Given the description of an element on the screen output the (x, y) to click on. 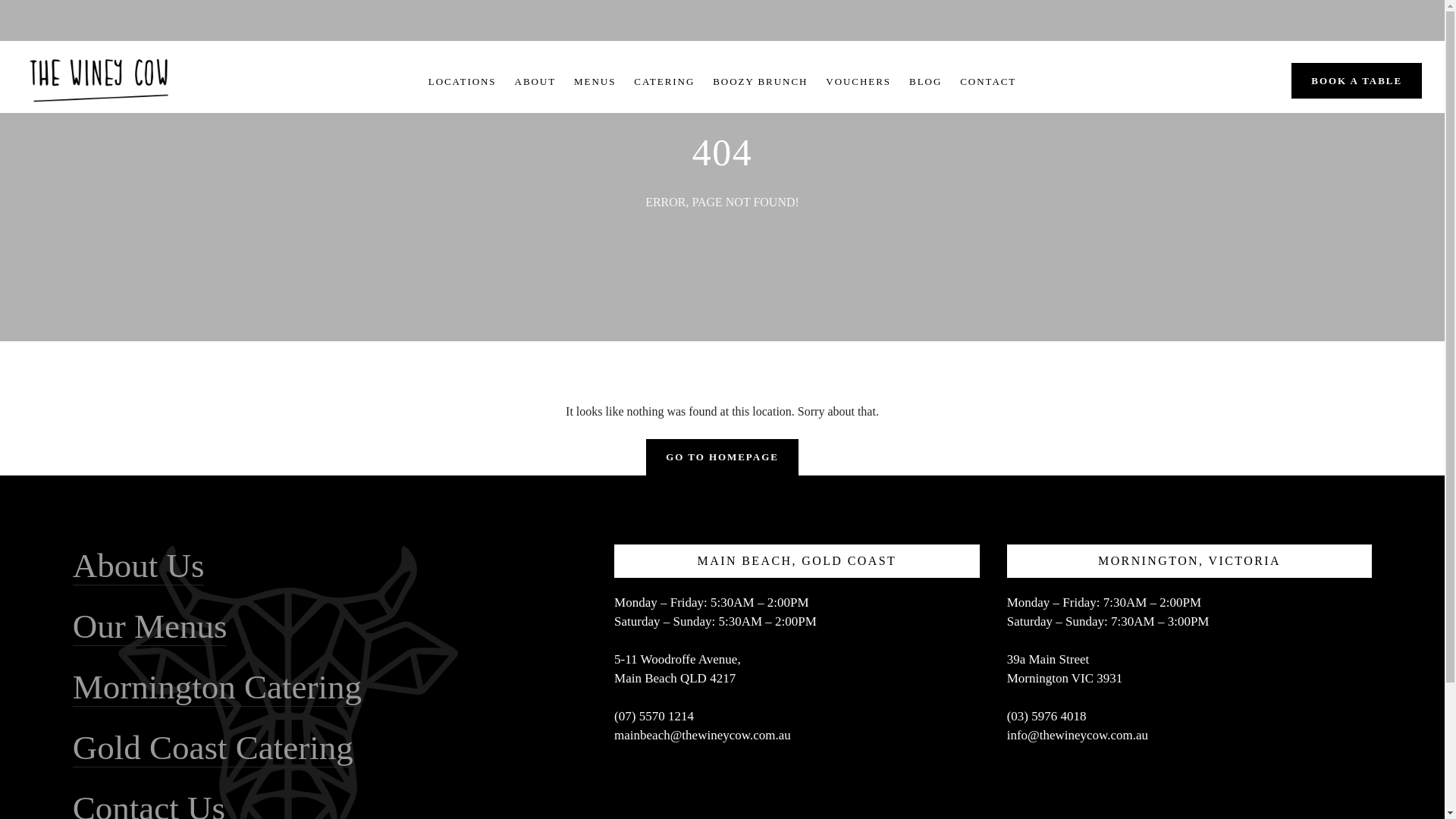
GO TO HOMEPAGE (721, 456)
BOOZY BRUNCH (760, 81)
39A Main St, Mornington VIC 3931, Australia (1190, 789)
About Us (138, 565)
Mornington Catering (216, 686)
LOCATIONS (462, 81)
Our Menus (149, 625)
BOOK A TABLE (1356, 81)
CONTACT (987, 81)
VOUCHERS (858, 81)
